Given the description of an element on the screen output the (x, y) to click on. 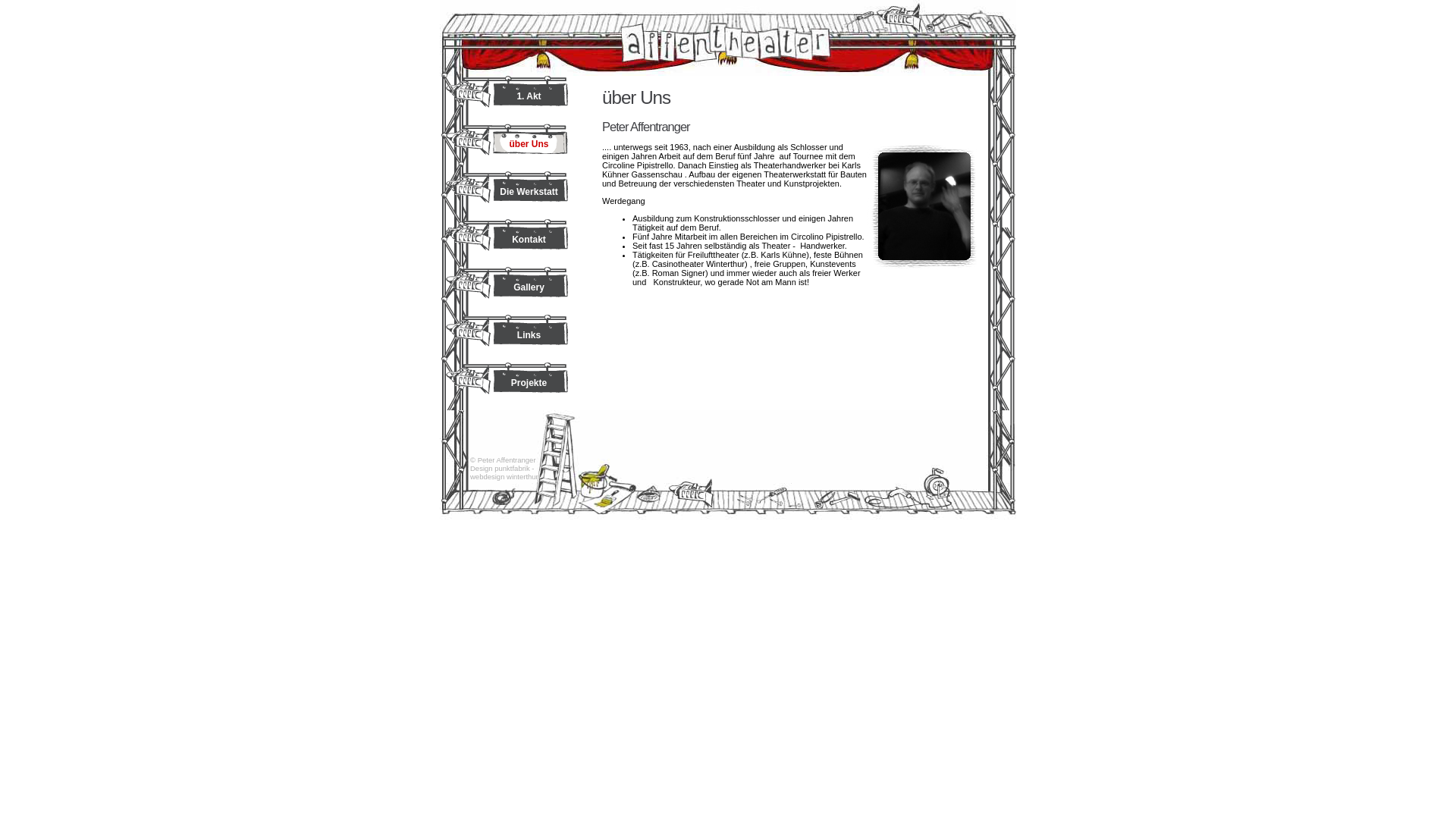
Gallery Element type: text (506, 290)
1. Akt Element type: text (506, 99)
Die Werkstatt Element type: text (506, 195)
punktfabrik - webdesign winterthur Element type: text (504, 472)
Links Element type: text (506, 338)
Projekte Element type: text (506, 386)
Kontakt Element type: text (506, 242)
